Given the description of an element on the screen output the (x, y) to click on. 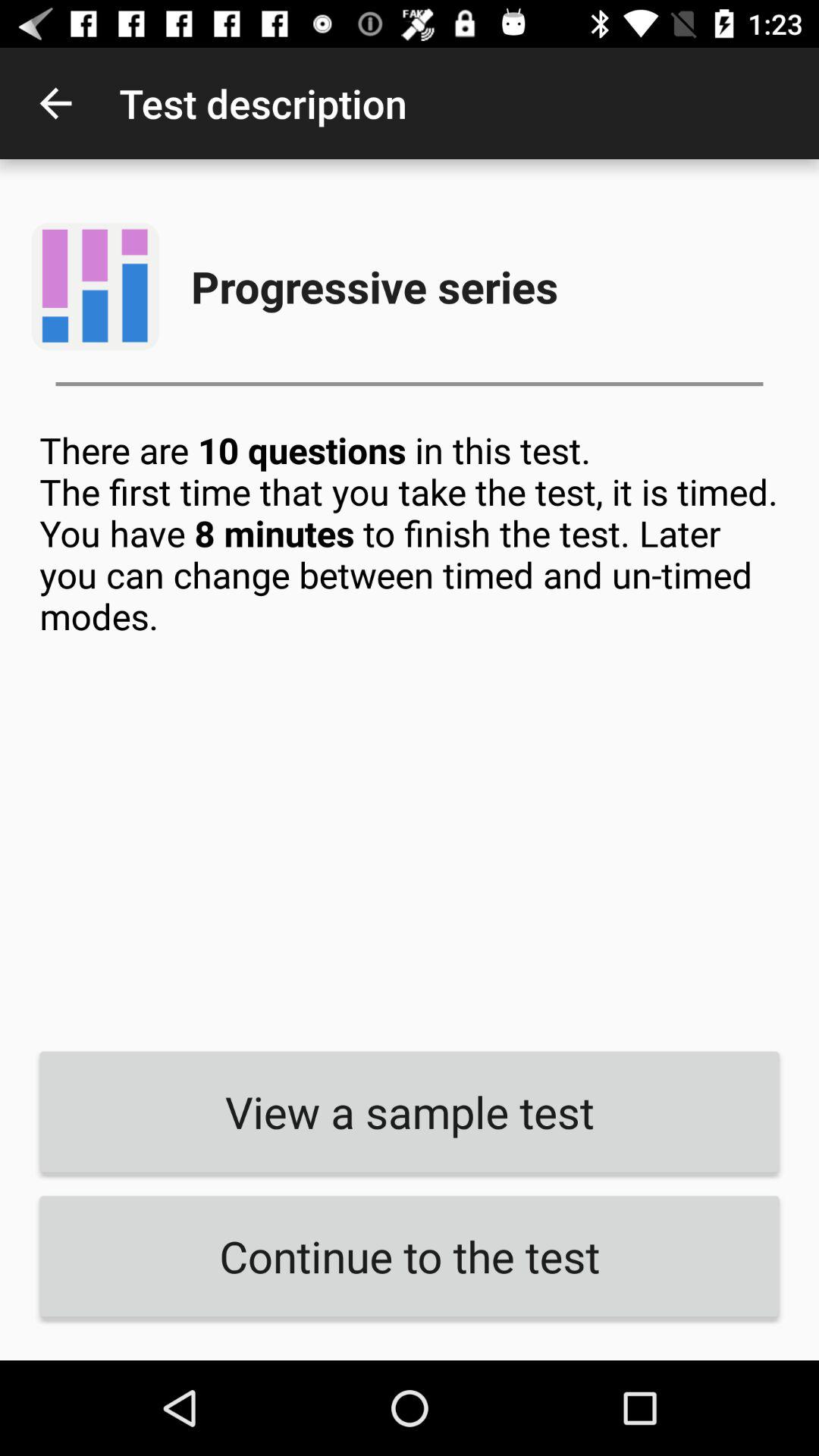
turn on the item above the continue to the item (409, 1111)
